Given the description of an element on the screen output the (x, y) to click on. 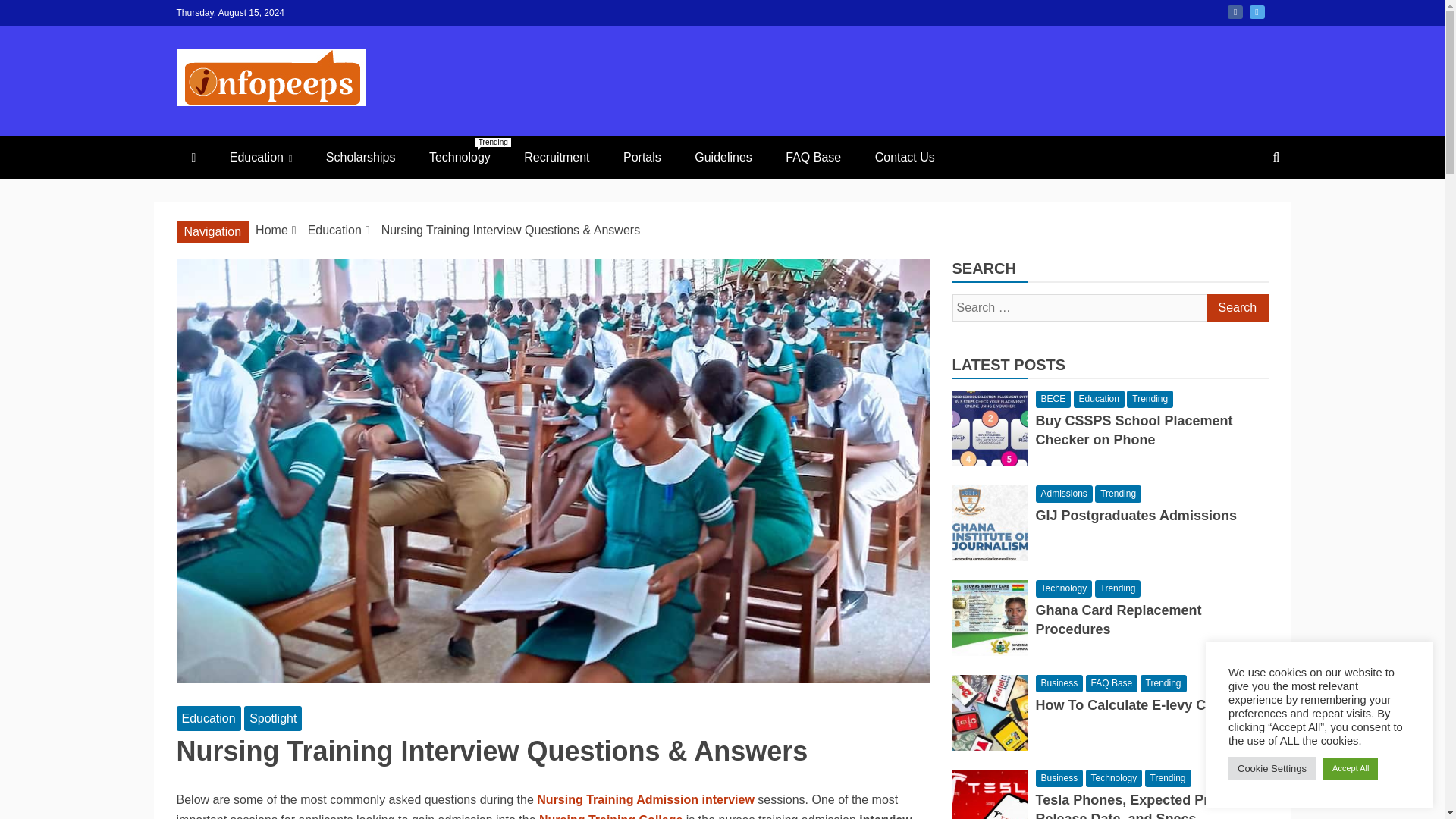
Home (272, 229)
Search (459, 157)
Nursing Training College (1236, 307)
Search (610, 816)
Twitter (1236, 307)
Guidelines (1257, 11)
Education (723, 157)
Nursing Training Admission interview (260, 157)
Scholarships (645, 799)
